Given the description of an element on the screen output the (x, y) to click on. 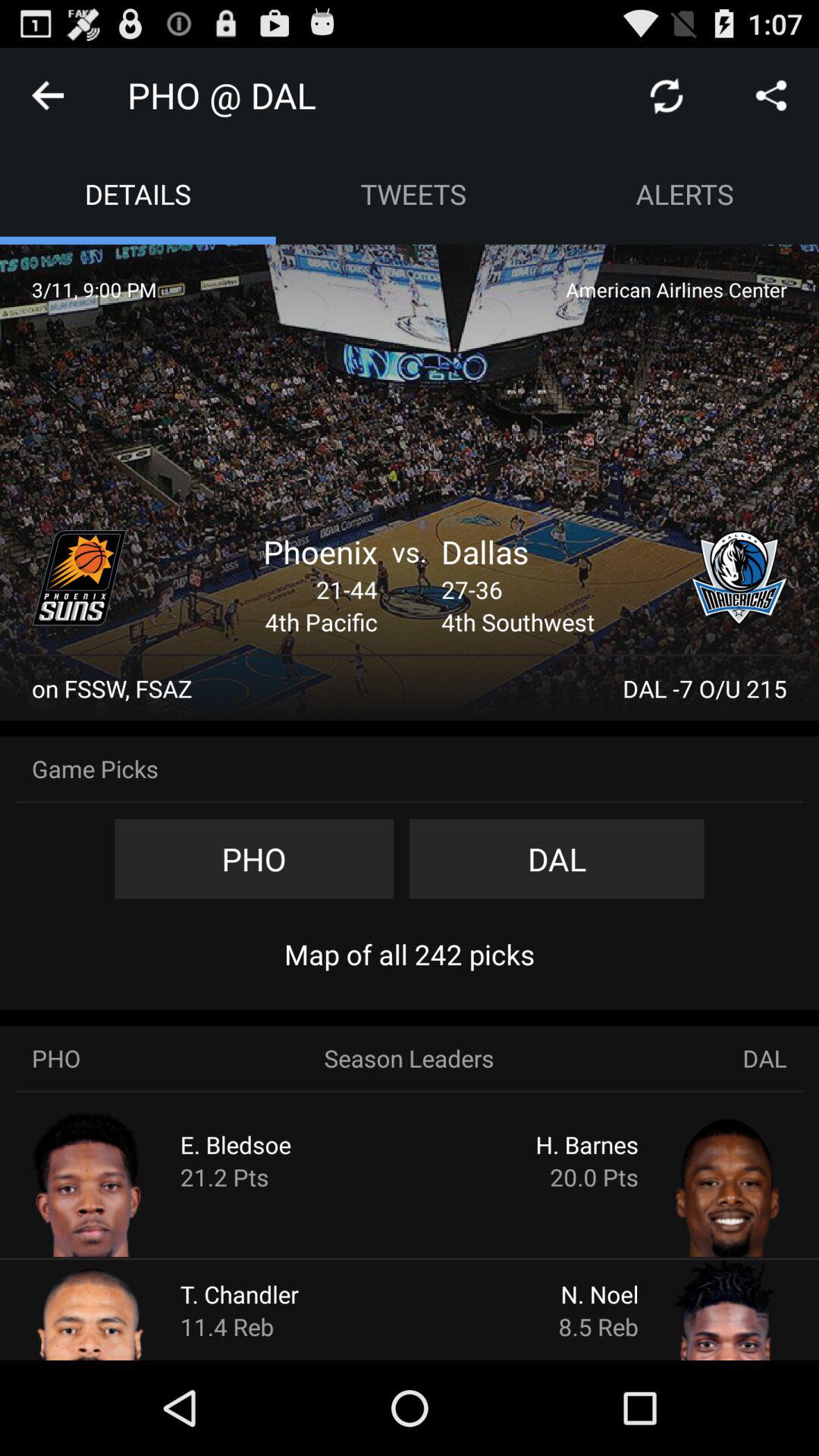
information on player (119, 1309)
